Given the description of an element on the screen output the (x, y) to click on. 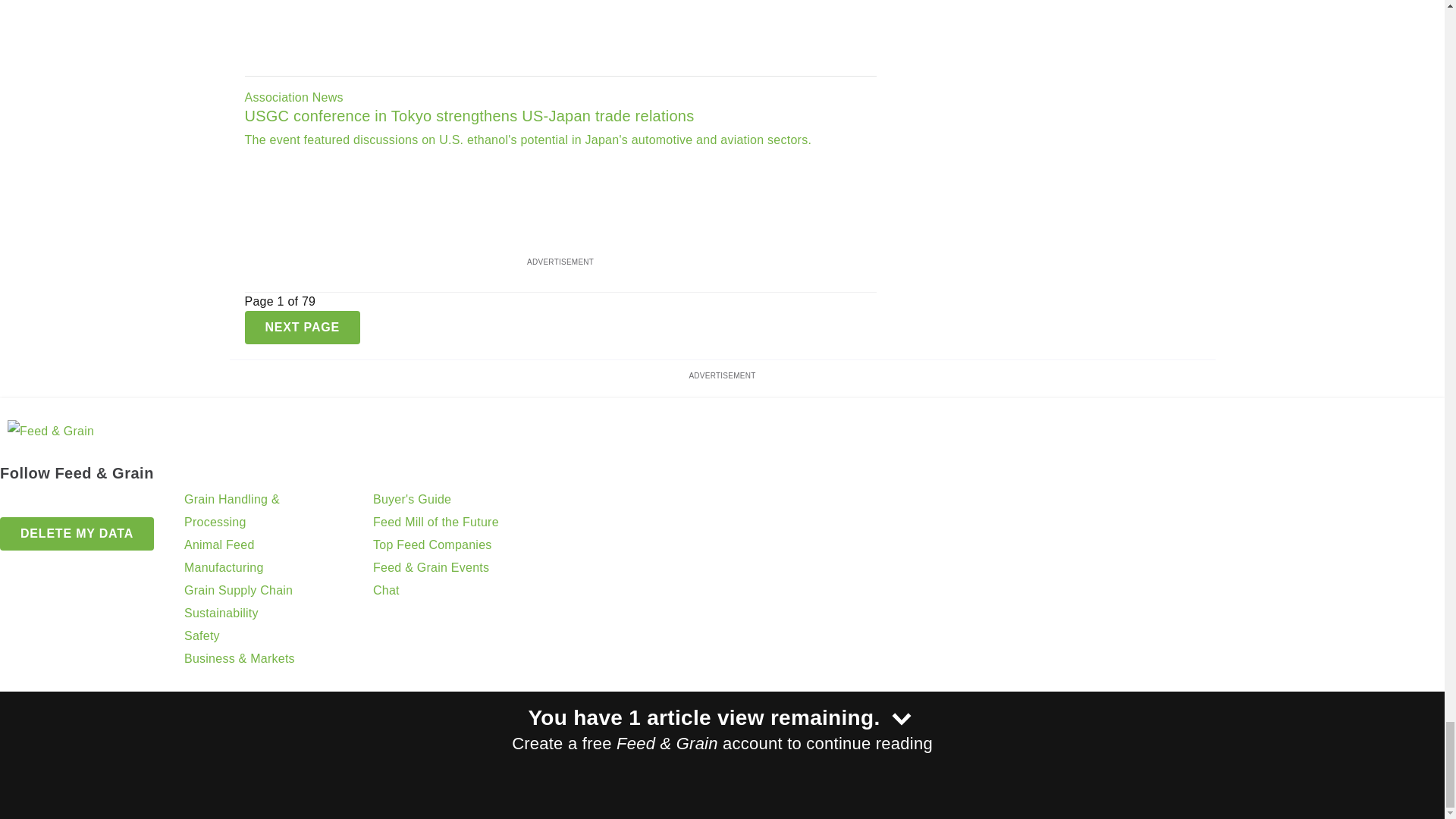
Facebook icon (13, 502)
LinkedIn icon (52, 502)
YouTube icon (90, 502)
